Given the description of an element on the screen output the (x, y) to click on. 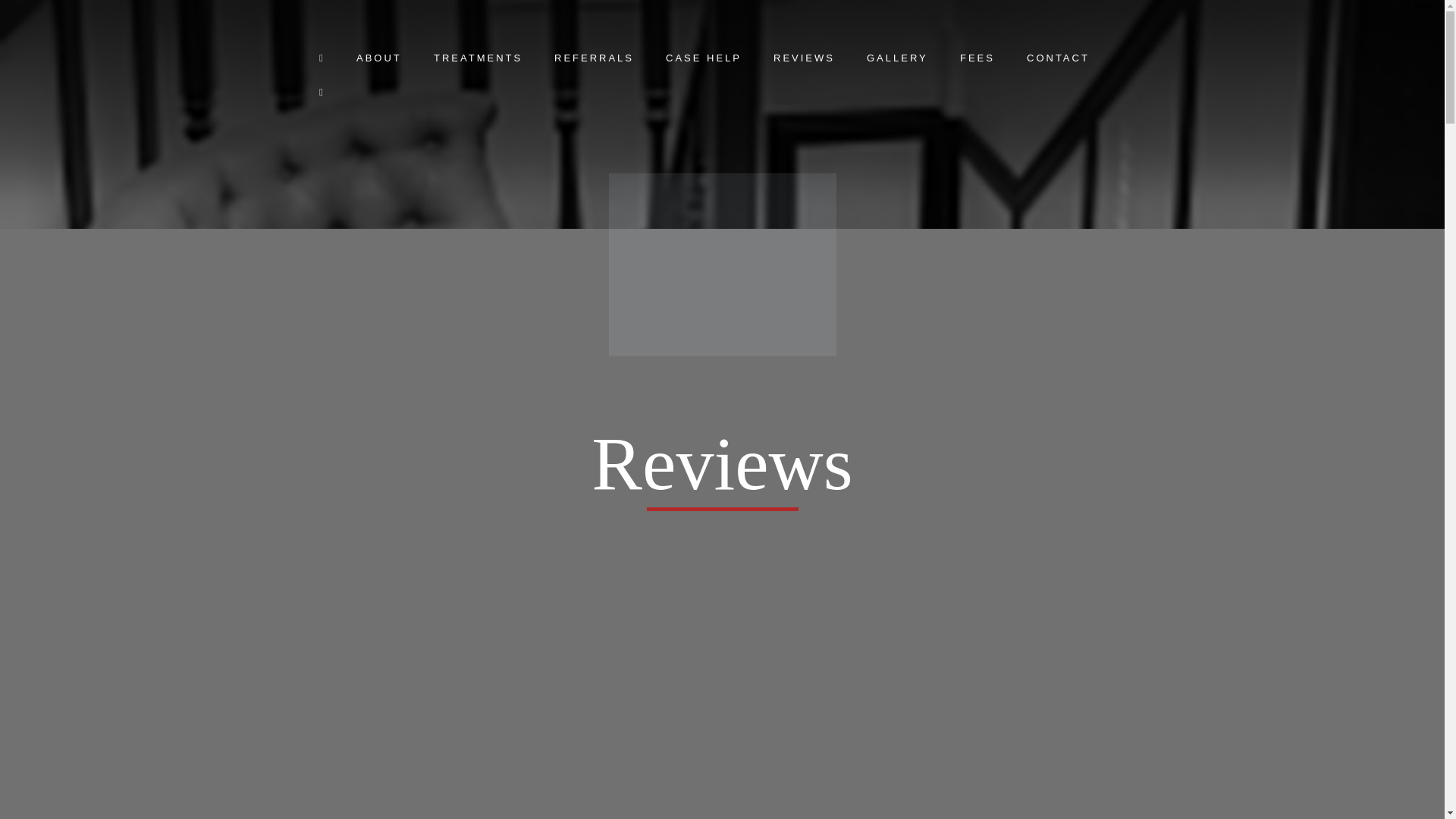
FEES (976, 60)
REFERRALS (593, 60)
ABOUT (378, 60)
REVIEWS (803, 60)
CASE HELP (703, 60)
CONTACT (1057, 60)
GALLERY (897, 60)
TREATMENTS (477, 60)
